Given the description of an element on the screen output the (x, y) to click on. 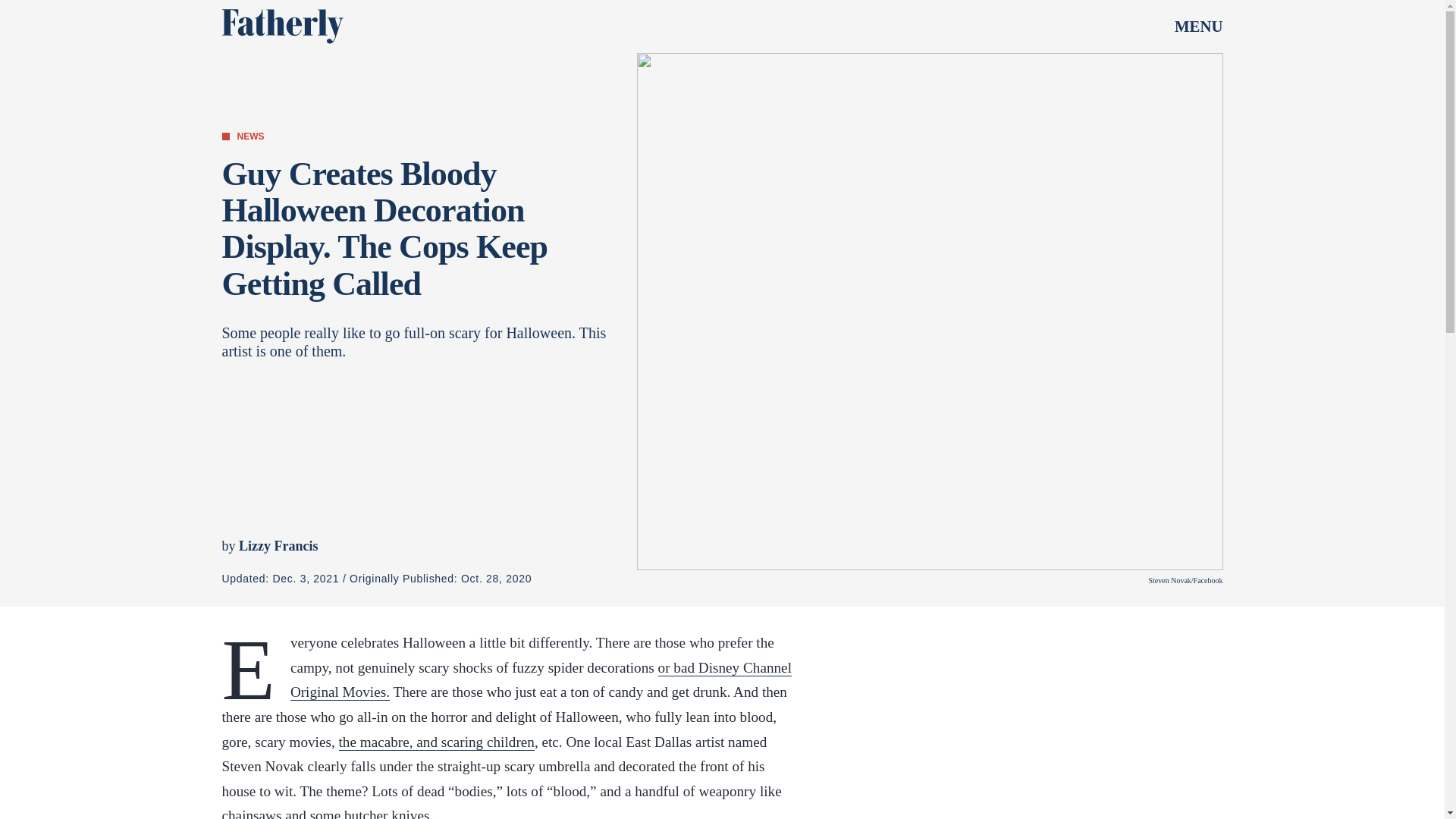
Fatherly (281, 26)
or bad Disney Channel Original Movies. (540, 680)
the macabre, and scaring children (435, 742)
Lizzy Francis (277, 545)
